Given the description of an element on the screen output the (x, y) to click on. 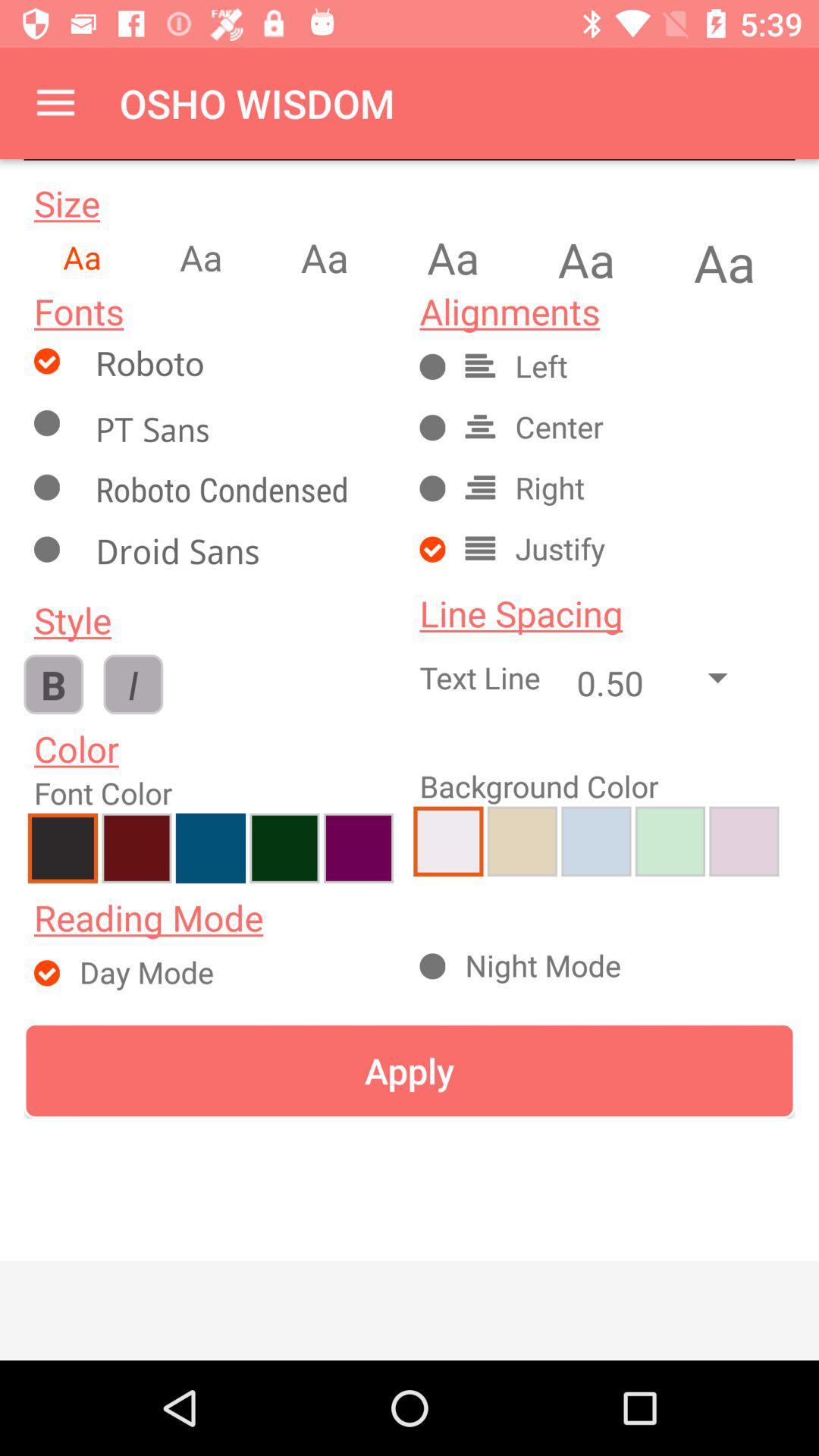
choose purple font color (358, 848)
